Given the description of an element on the screen output the (x, y) to click on. 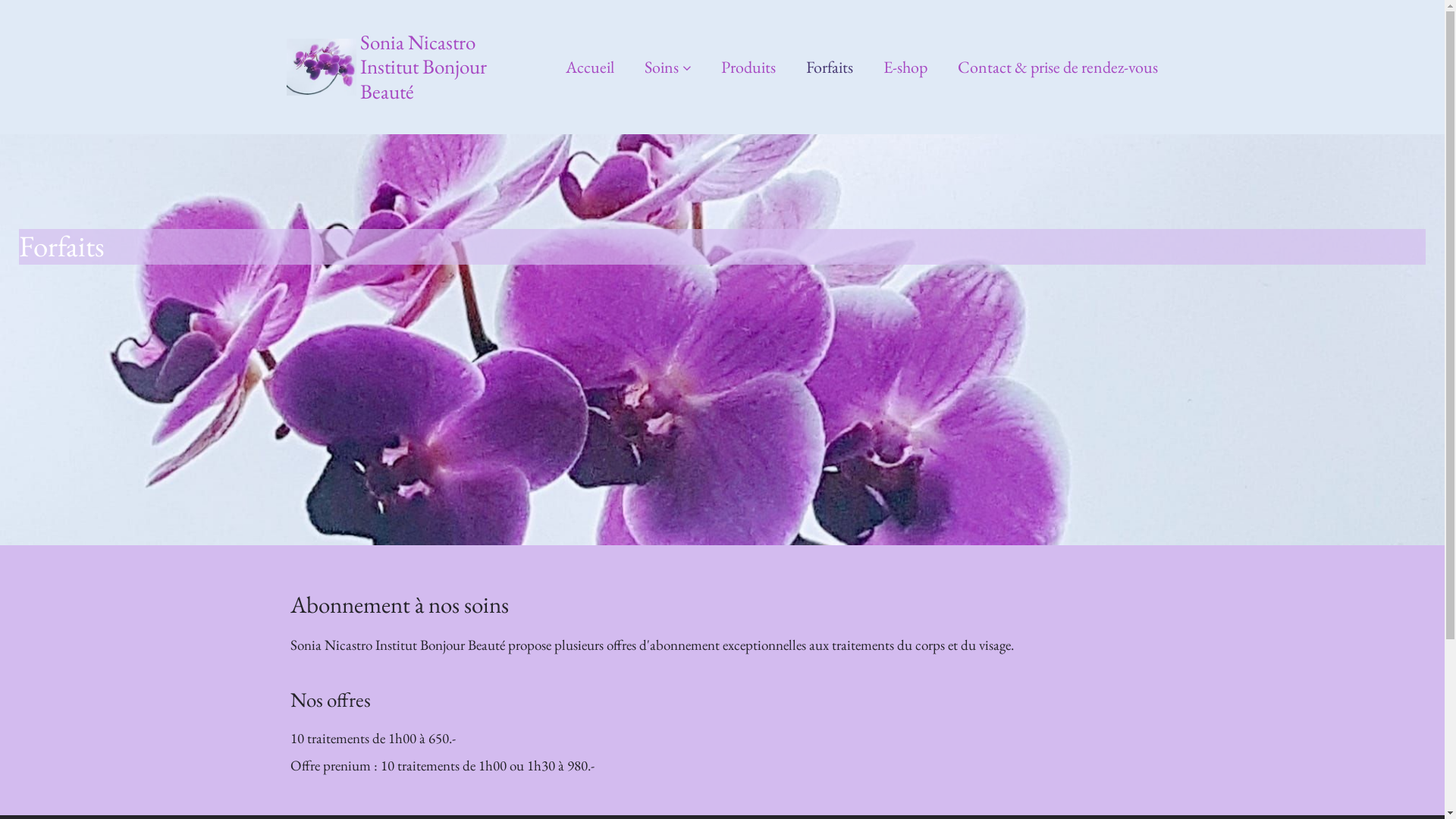
Contact & prise de rendez-vous Element type: text (1057, 67)
Produits Element type: text (748, 67)
Soins Element type: text (667, 67)
E-shop Element type: text (905, 67)
Accueil Element type: text (589, 67)
Forfaits Element type: text (829, 67)
